Given the description of an element on the screen output the (x, y) to click on. 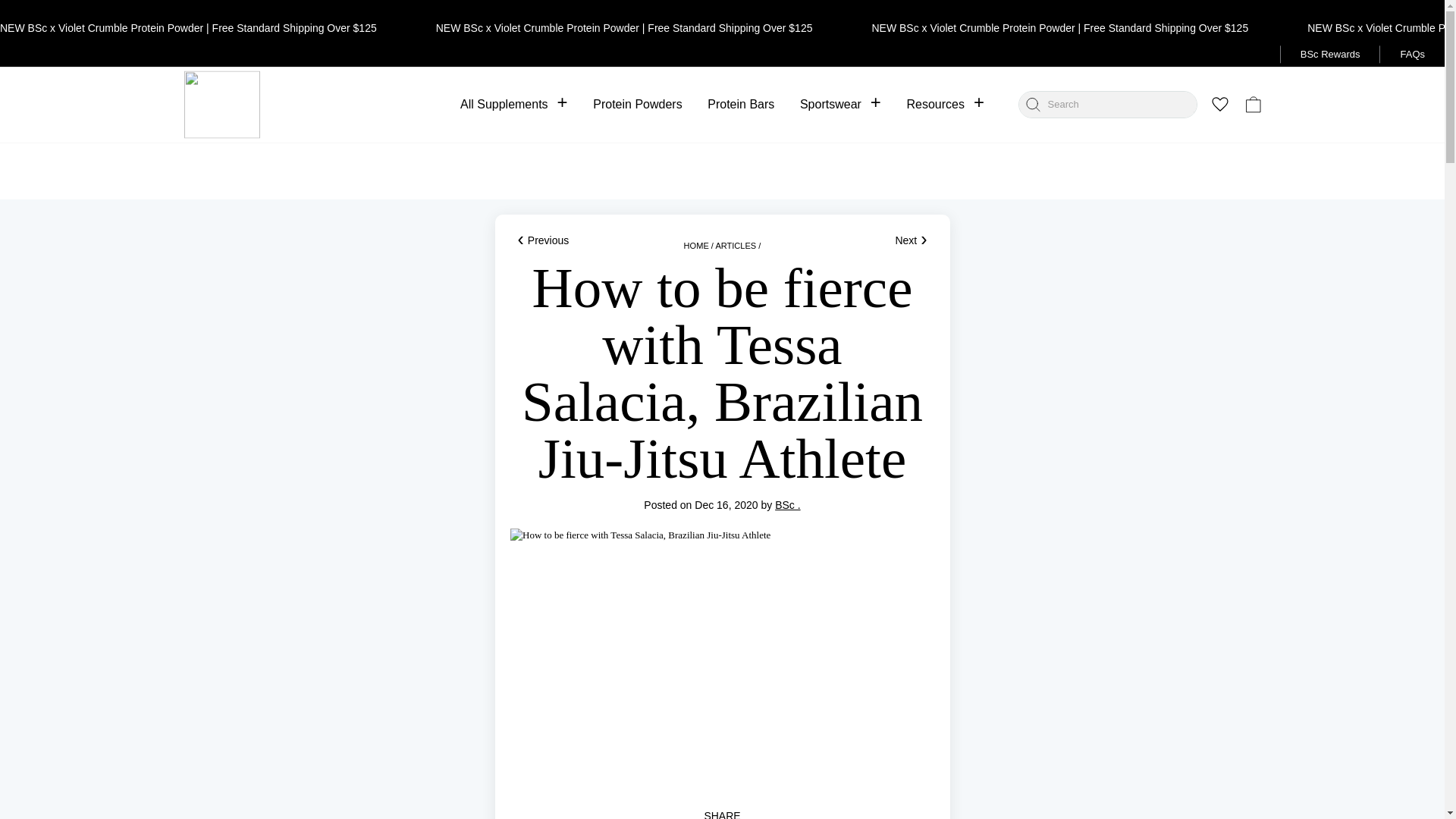
icon-bag-minimal (1252, 104)
account (1185, 105)
FAQs (1411, 54)
Back to the frontpage (696, 245)
BSc Rewards (1330, 54)
